Given the description of an element on the screen output the (x, y) to click on. 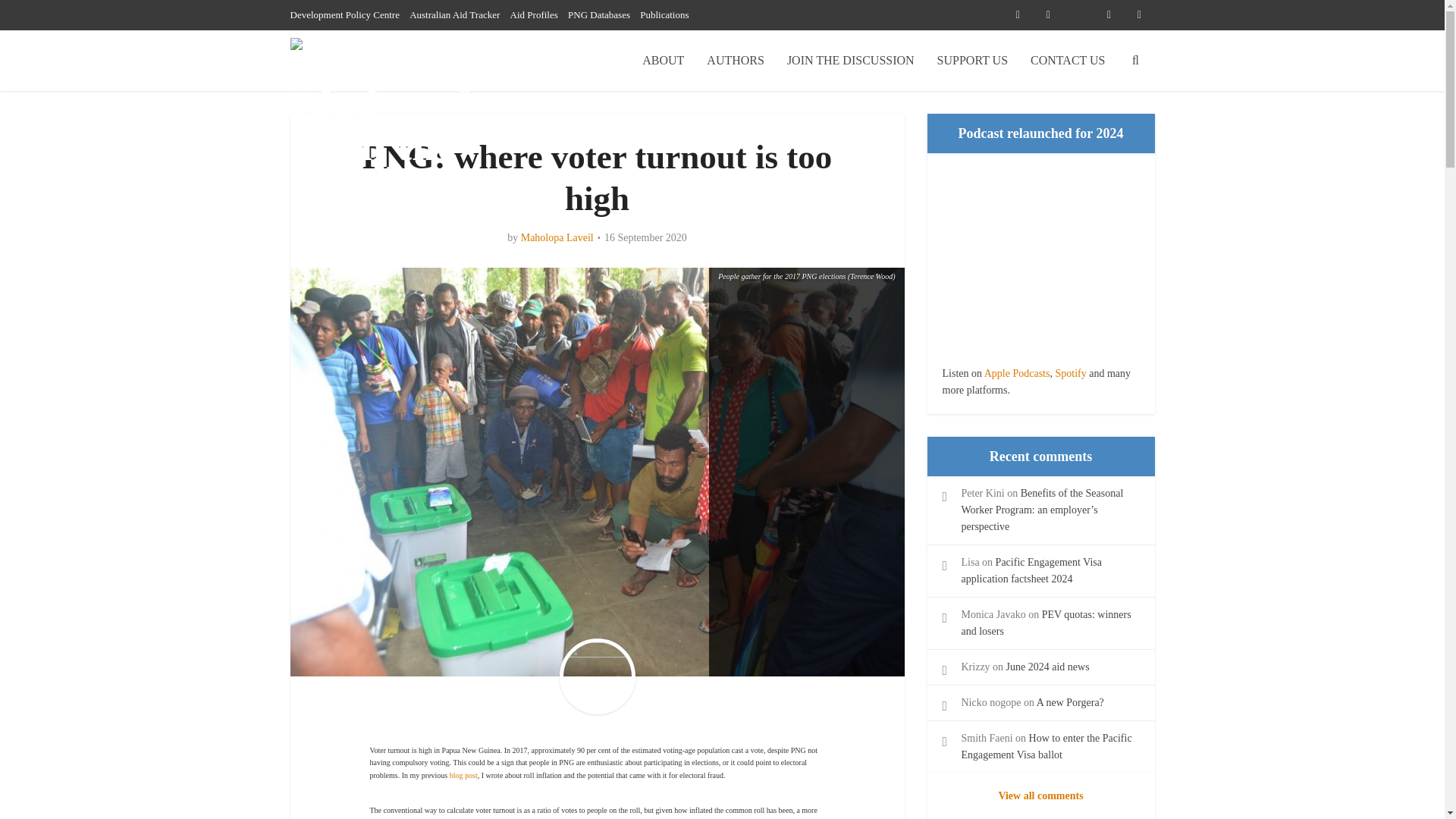
CONTACT US (1067, 60)
ABOUT (662, 60)
Aid Profiles (534, 14)
SUPPORT US (972, 60)
Development Policy Centre (343, 14)
PNG Databases (598, 14)
JOIN THE DISCUSSION (851, 60)
AUTHORS (735, 60)
Publications (664, 14)
Maholopa Laveil (557, 237)
blog post (463, 775)
Australian Aid Tracker (454, 14)
